Given the description of an element on the screen output the (x, y) to click on. 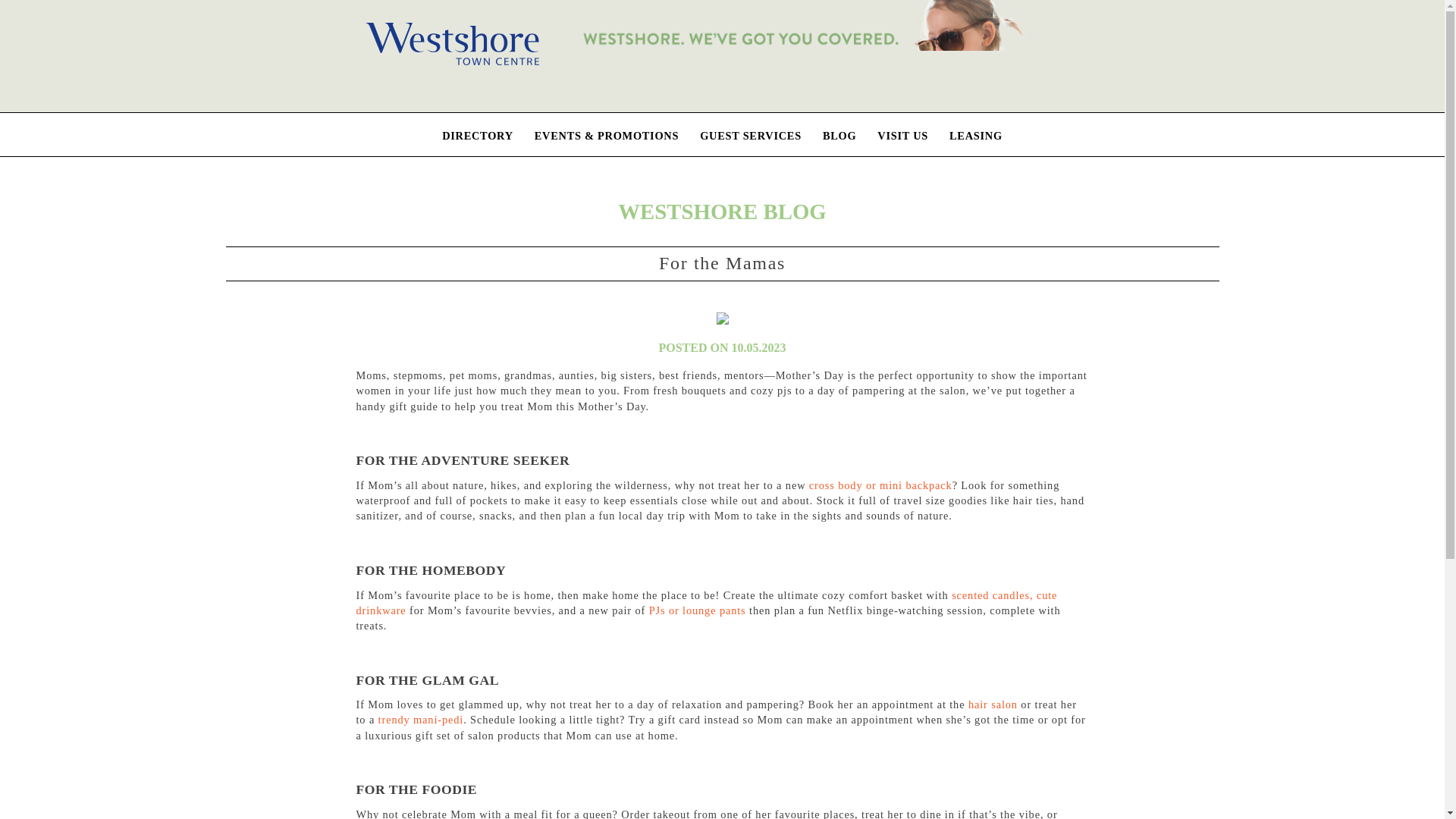
DIRECTORY (477, 135)
BLOG (839, 135)
INSTAGRAM (1354, 134)
GUEST SERVICES (751, 135)
LEASING (976, 135)
PINTEREST (1416, 134)
VISIT US (902, 135)
PJs or lounge pants (697, 610)
scented candles, cute drinkware (707, 602)
cross body or mini backpack (880, 485)
